Given the description of an element on the screen output the (x, y) to click on. 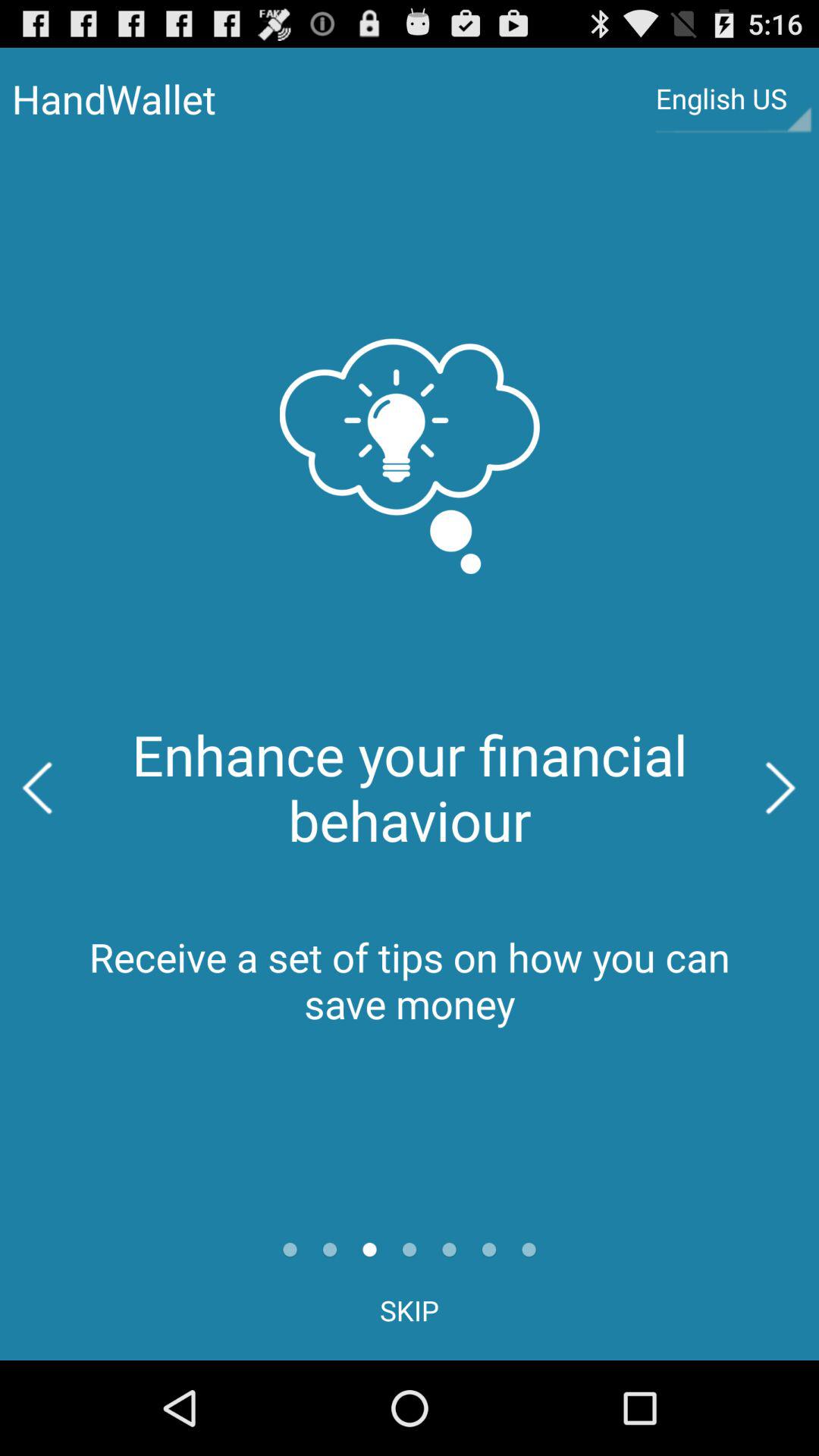
jump until the english us (733, 98)
